Given the description of an element on the screen output the (x, y) to click on. 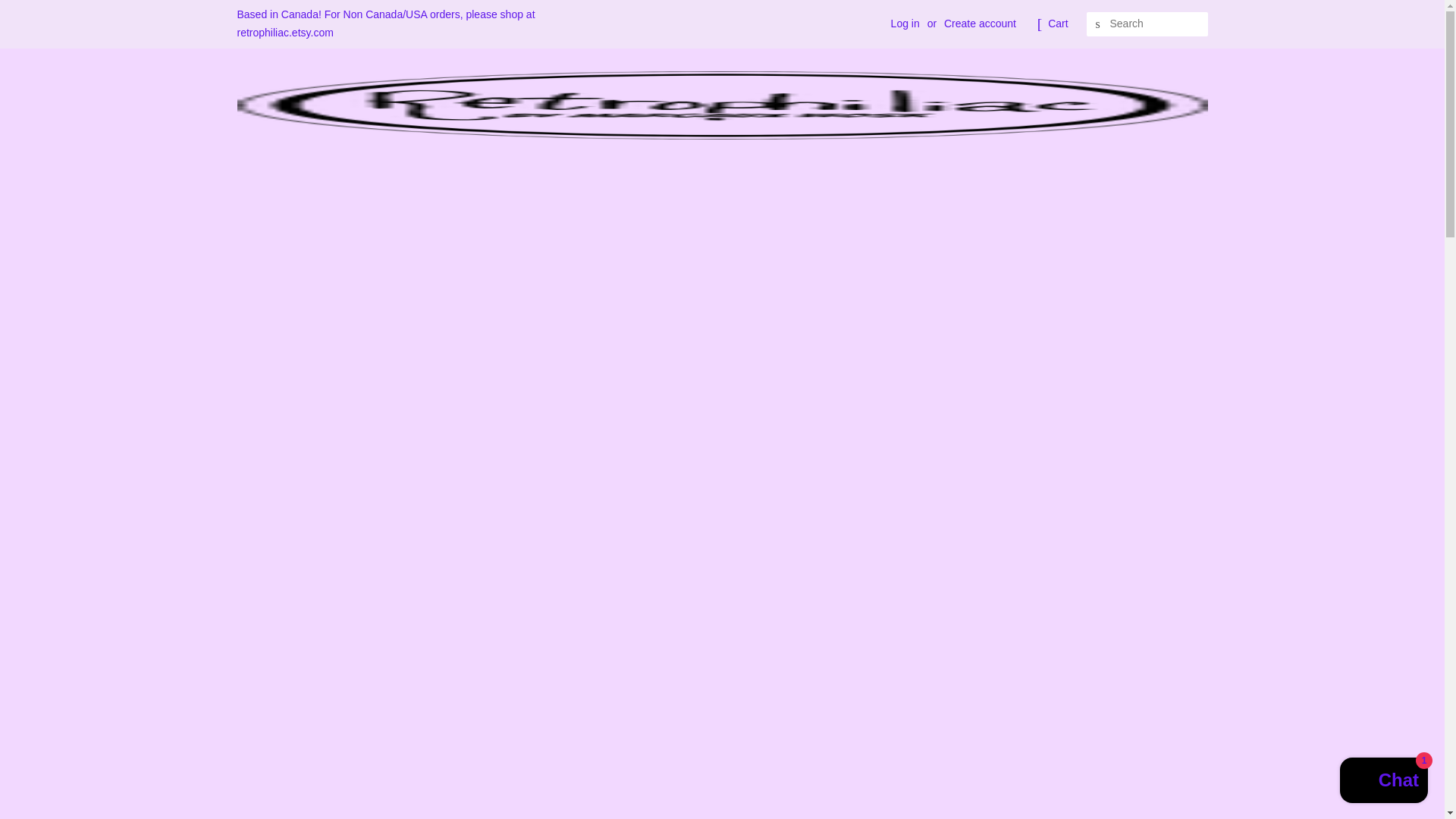
Log in (905, 23)
SEARCH (1097, 24)
Create account (979, 23)
Cart (1057, 24)
Shopify online store chat (1383, 781)
